Given the description of an element on the screen output the (x, y) to click on. 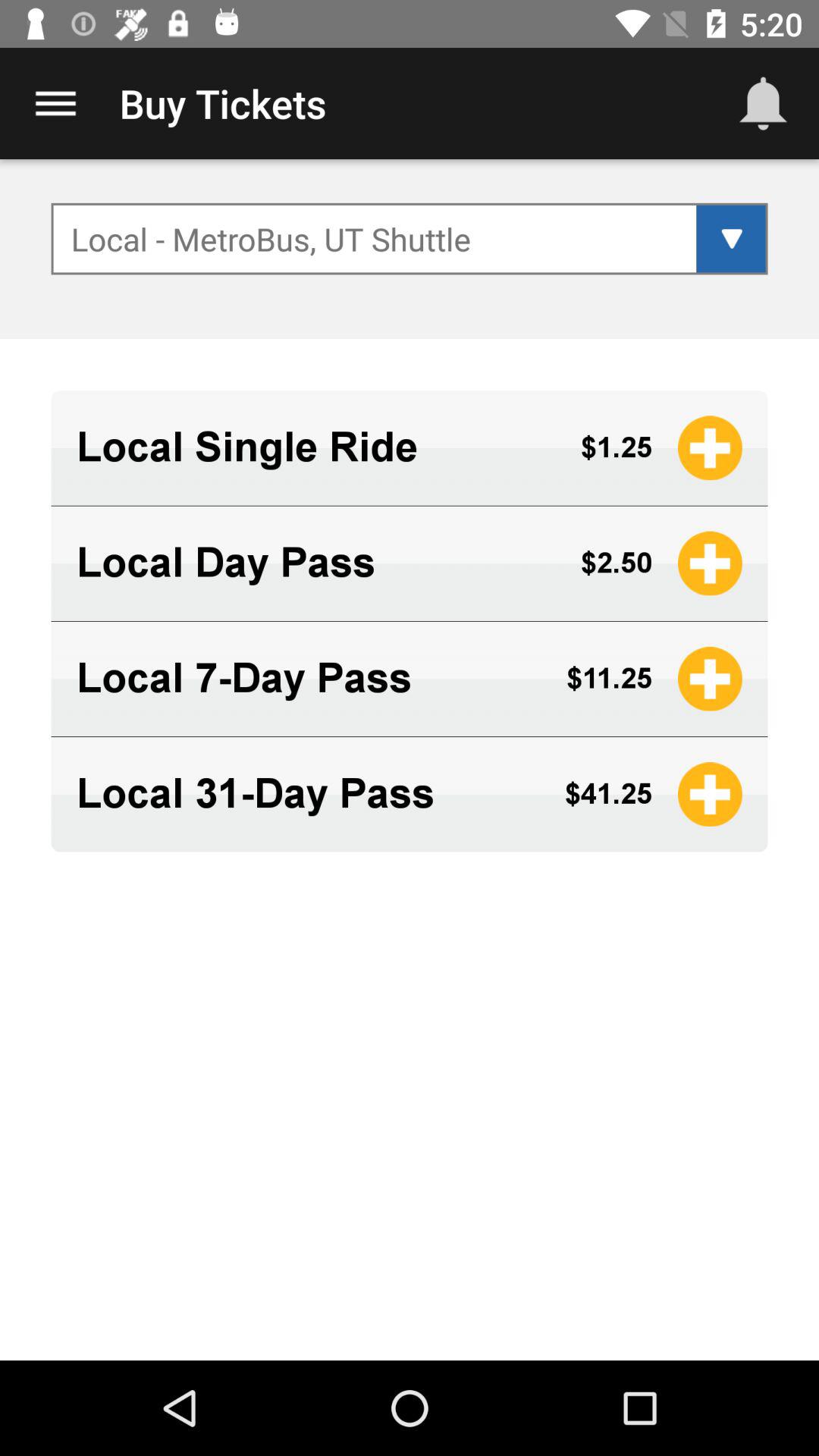
open item next to buy tickets item (55, 103)
